Given the description of an element on the screen output the (x, y) to click on. 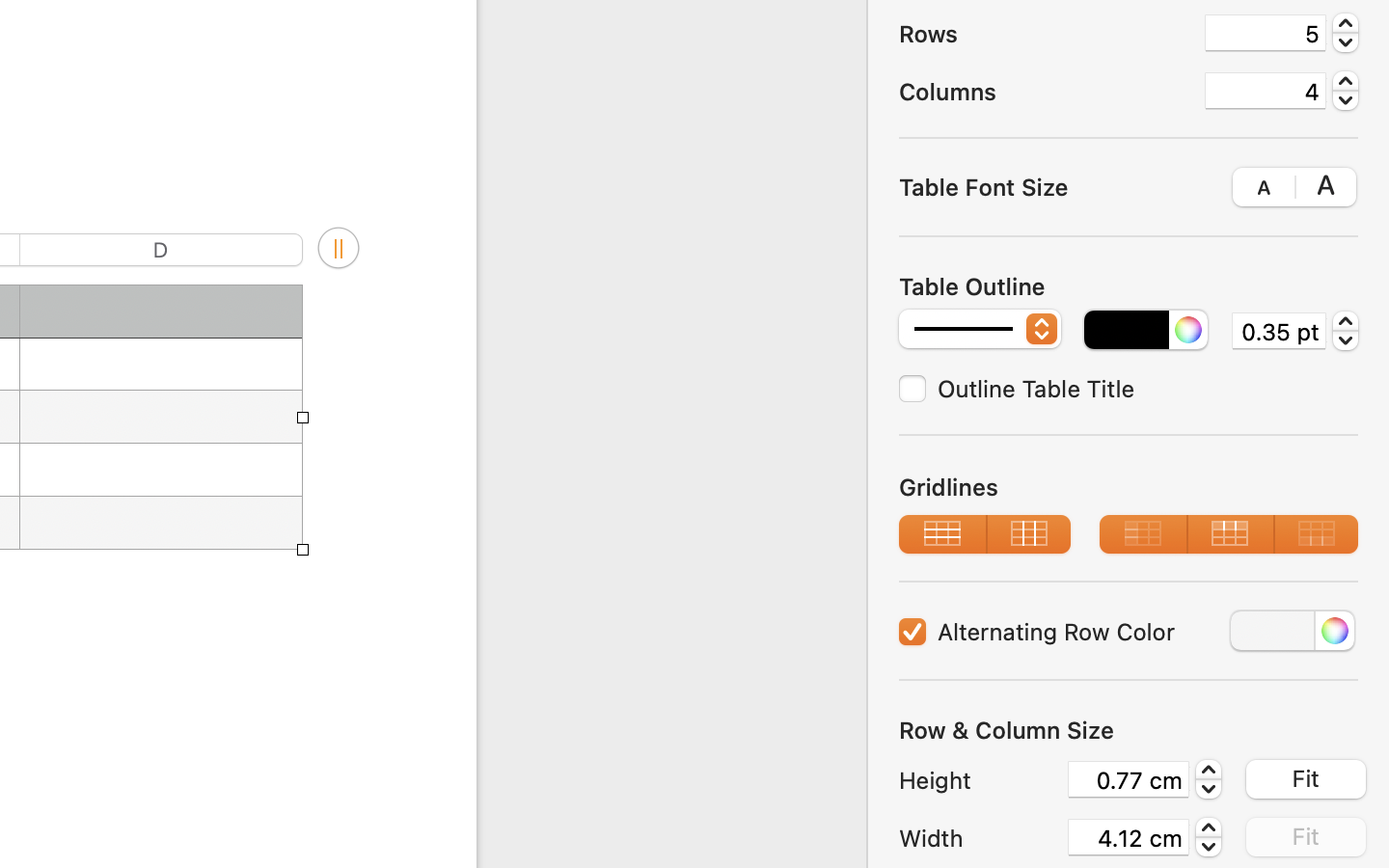
0.77 cm Element type: AXTextField (1128, 778)
Columns Element type: AXStaticText (1043, 91)
Table Font Size Element type: AXStaticText (983, 185)
4.0 Element type: AXIncrementor (1345, 90)
Row & Column Size Element type: AXStaticText (1006, 729)
